Given the description of an element on the screen output the (x, y) to click on. 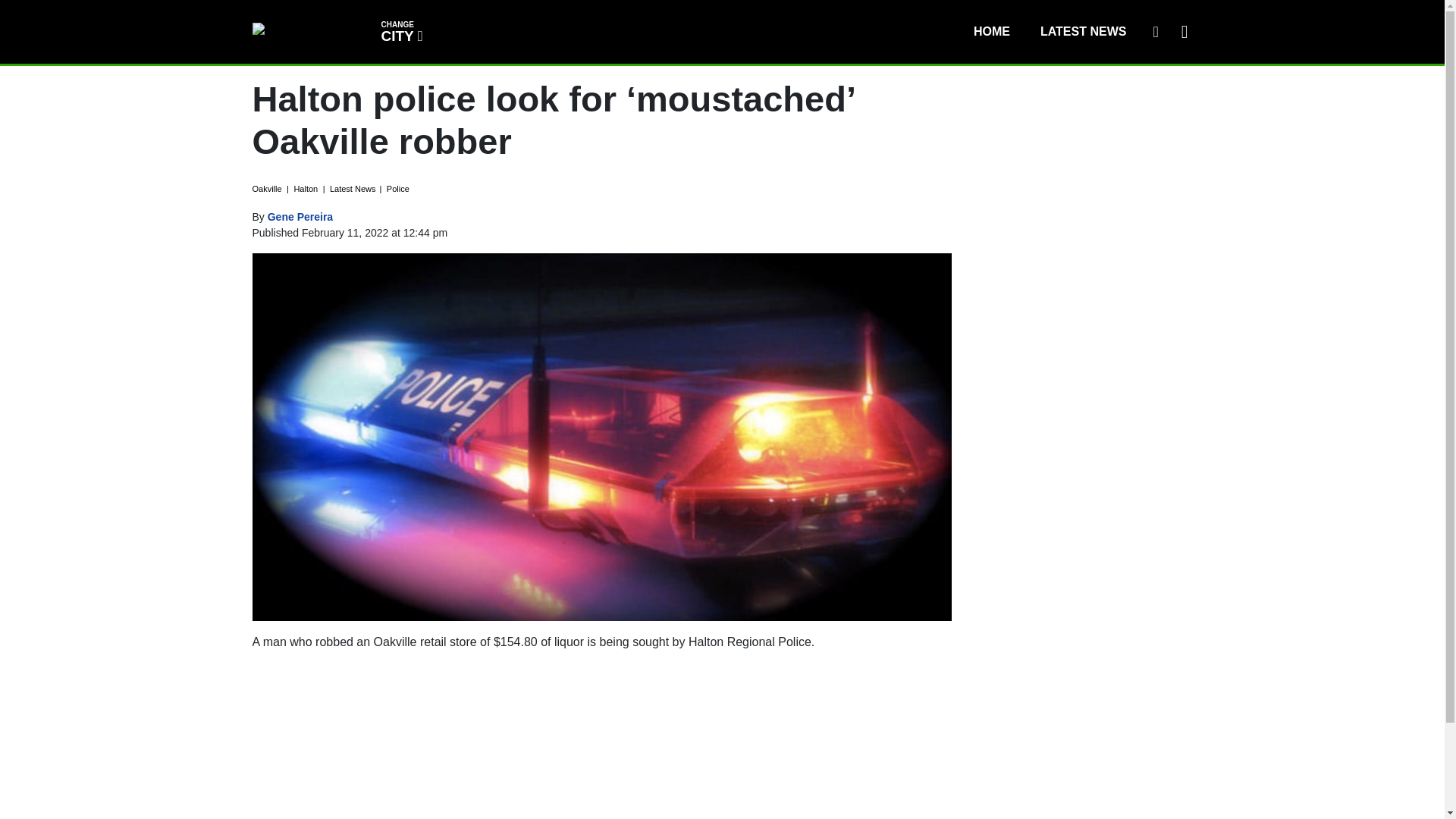
HOME (400, 30)
SIGN UP FOR OUR NEWSLETTER (991, 31)
Posts by 942 (1155, 31)
LATEST NEWS (300, 216)
